Given the description of an element on the screen output the (x, y) to click on. 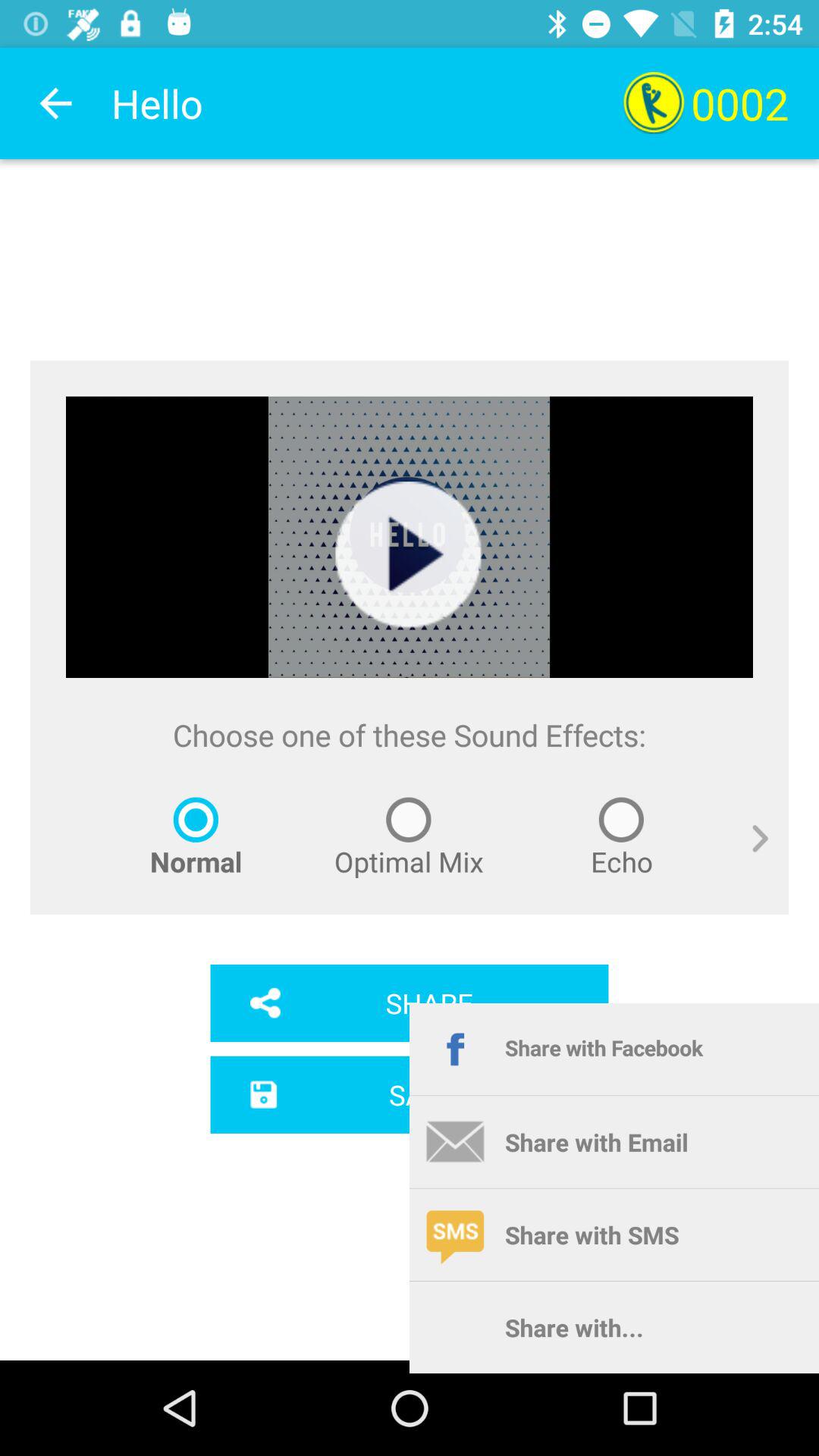
select the item to the left of hello app (55, 103)
